Given the description of an element on the screen output the (x, y) to click on. 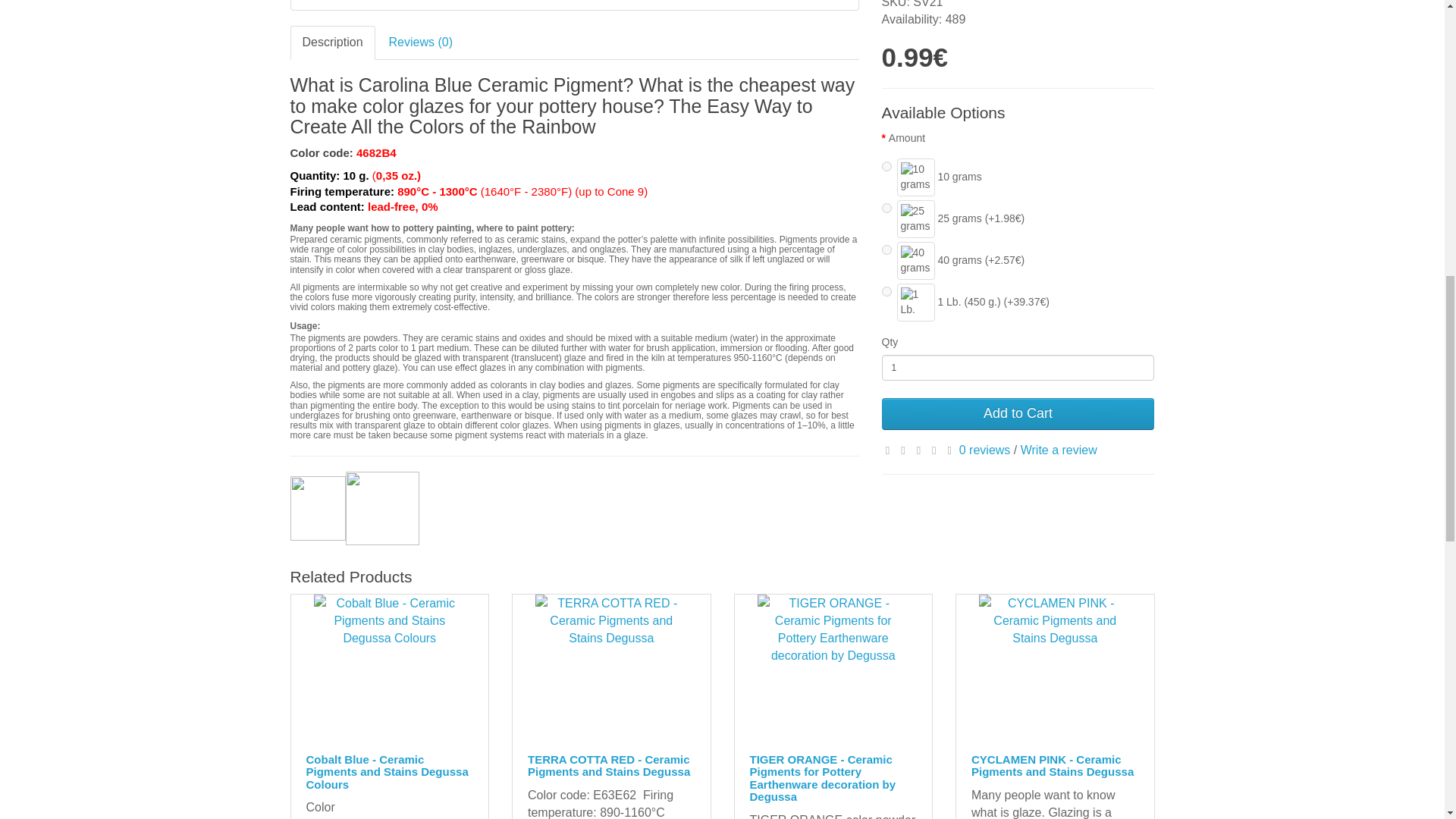
406 (885, 207)
1 (1017, 367)
405 (885, 249)
404 (885, 166)
1170 (885, 291)
